Given the description of an element on the screen output the (x, y) to click on. 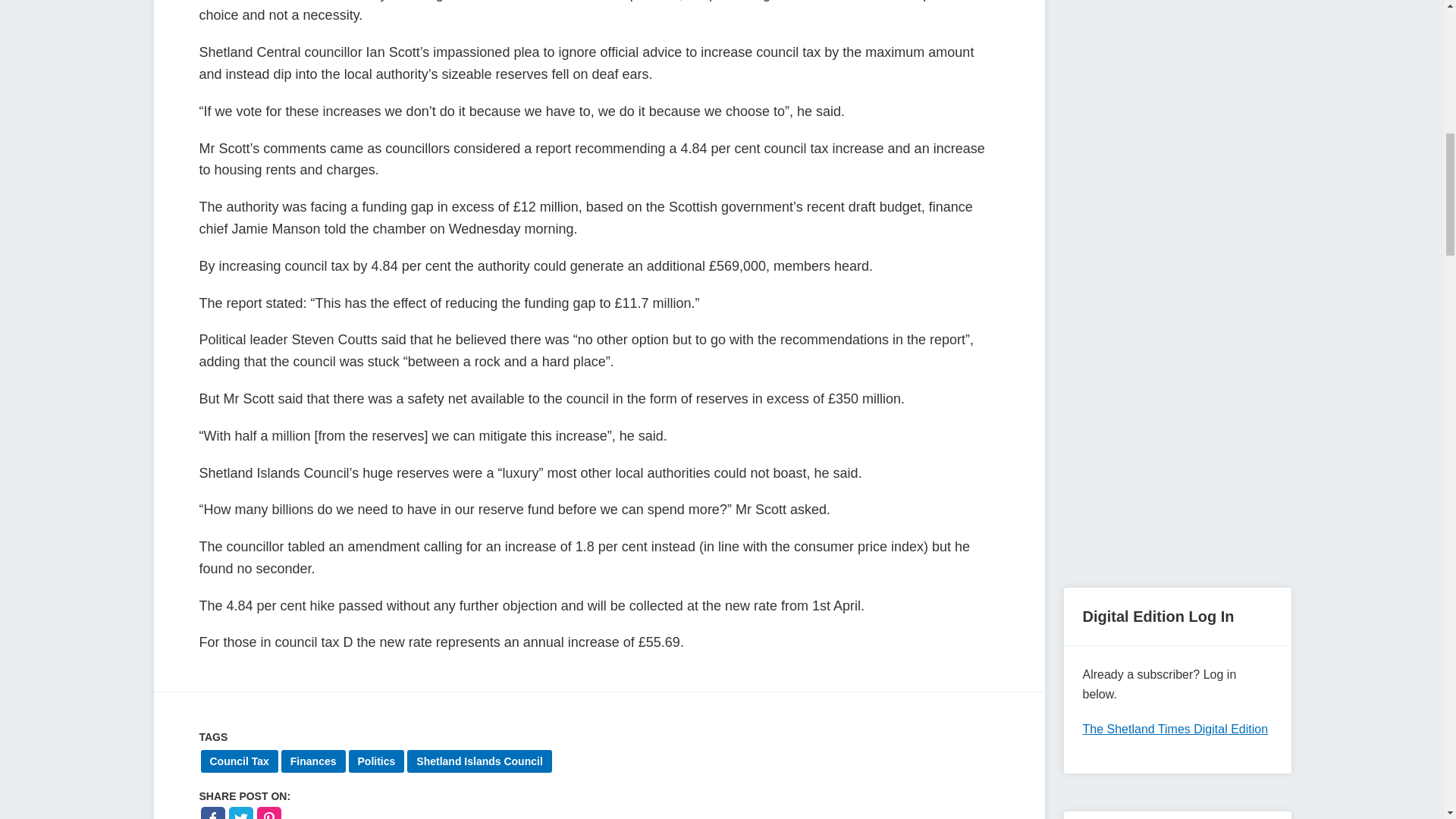
3rd party ad content (1176, 454)
Finances (313, 761)
3rd party ad content (1176, 242)
3rd party ad content (1176, 62)
Politics (376, 761)
Shetland Islands Council (479, 761)
Council Tax (239, 761)
